Given the description of an element on the screen output the (x, y) to click on. 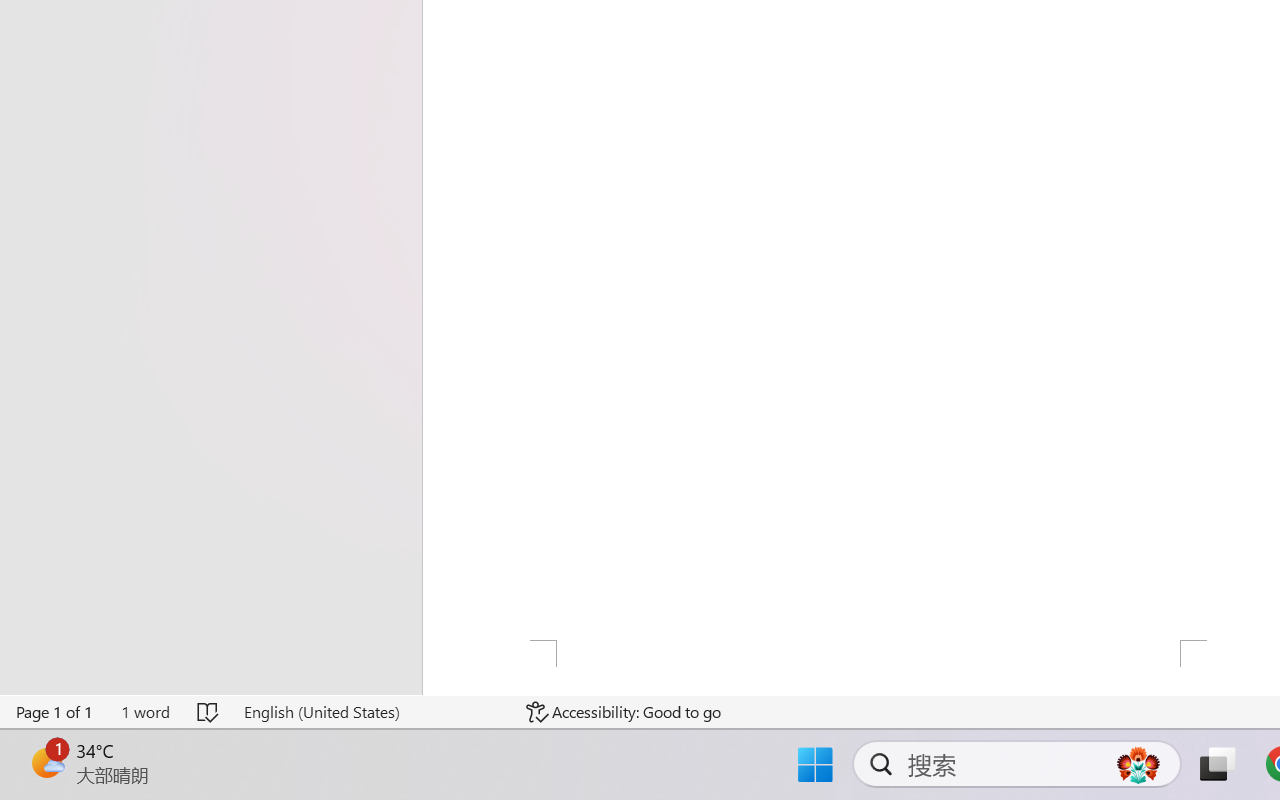
AutomationID: DynamicSearchBoxGleamImage (1138, 764)
Page Number Page 1 of 1 (55, 712)
Accessibility Checker Accessibility: Good to go (623, 712)
AutomationID: BadgeAnchorLargeTicker (46, 762)
Spelling and Grammar Check No Errors (208, 712)
Word Count 1 word (145, 712)
Language English (United States) (370, 712)
